Given the description of an element on the screen output the (x, y) to click on. 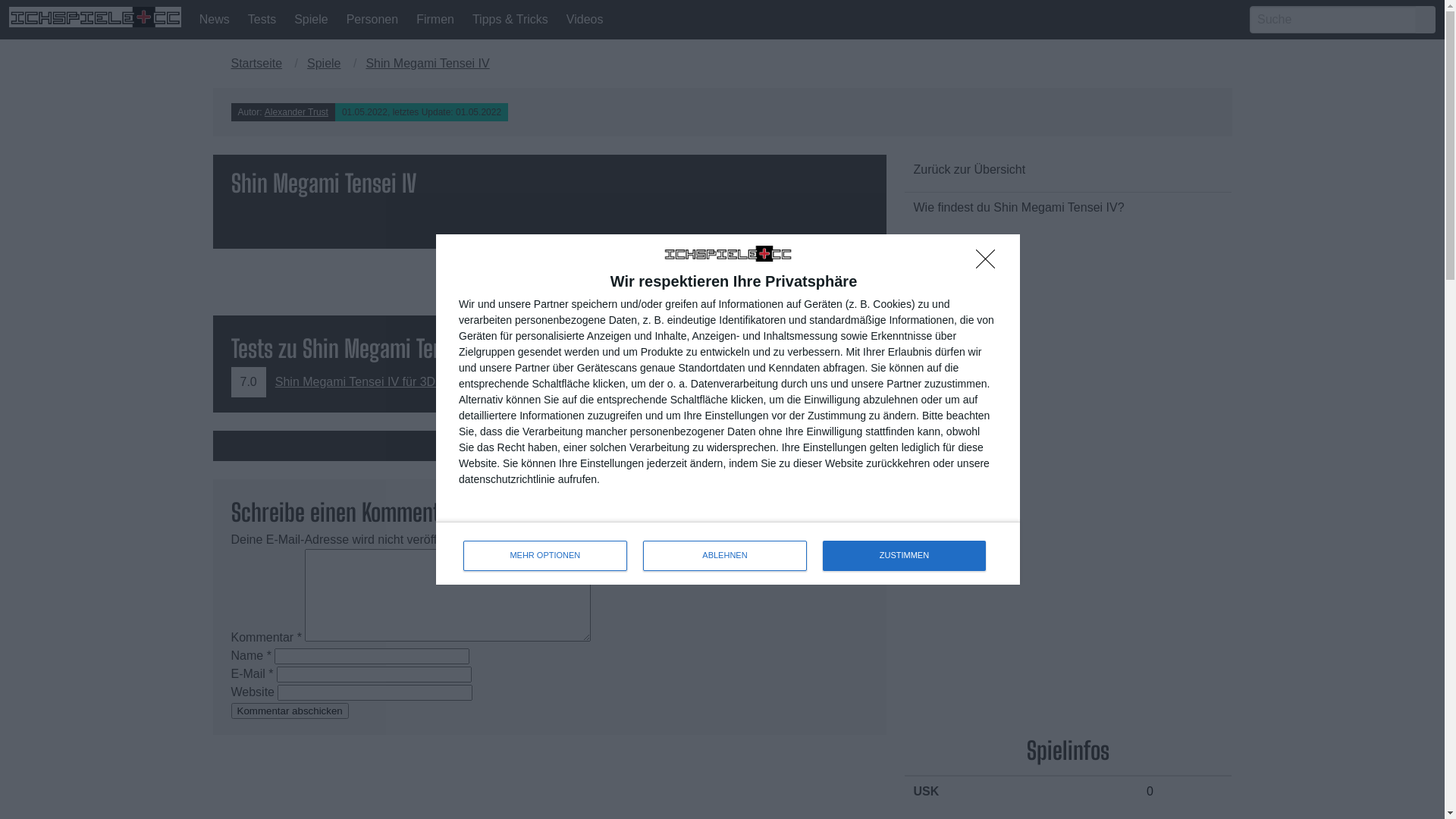
ZUSTIMMEN Element type: text (903, 555)
ABLEHNEN Element type: text (725, 555)
Spiele Element type: text (323, 63)
MEHR OPTIONEN Element type: text (544, 555)
News Element type: text (214, 19)
Tipps & Tricks Element type: text (510, 19)
Alexander Trust Element type: text (296, 112)
Tests Element type: text (261, 19)
Kommentar abschicken Element type: text (289, 710)
Shin Megami Tensei IV Element type: text (427, 63)
Videos Element type: text (584, 19)
Spiele Element type: text (310, 19)
Startseite Element type: text (260, 63)
Personen Element type: text (372, 19)
Firmen Element type: text (435, 19)
